Given the description of an element on the screen output the (x, y) to click on. 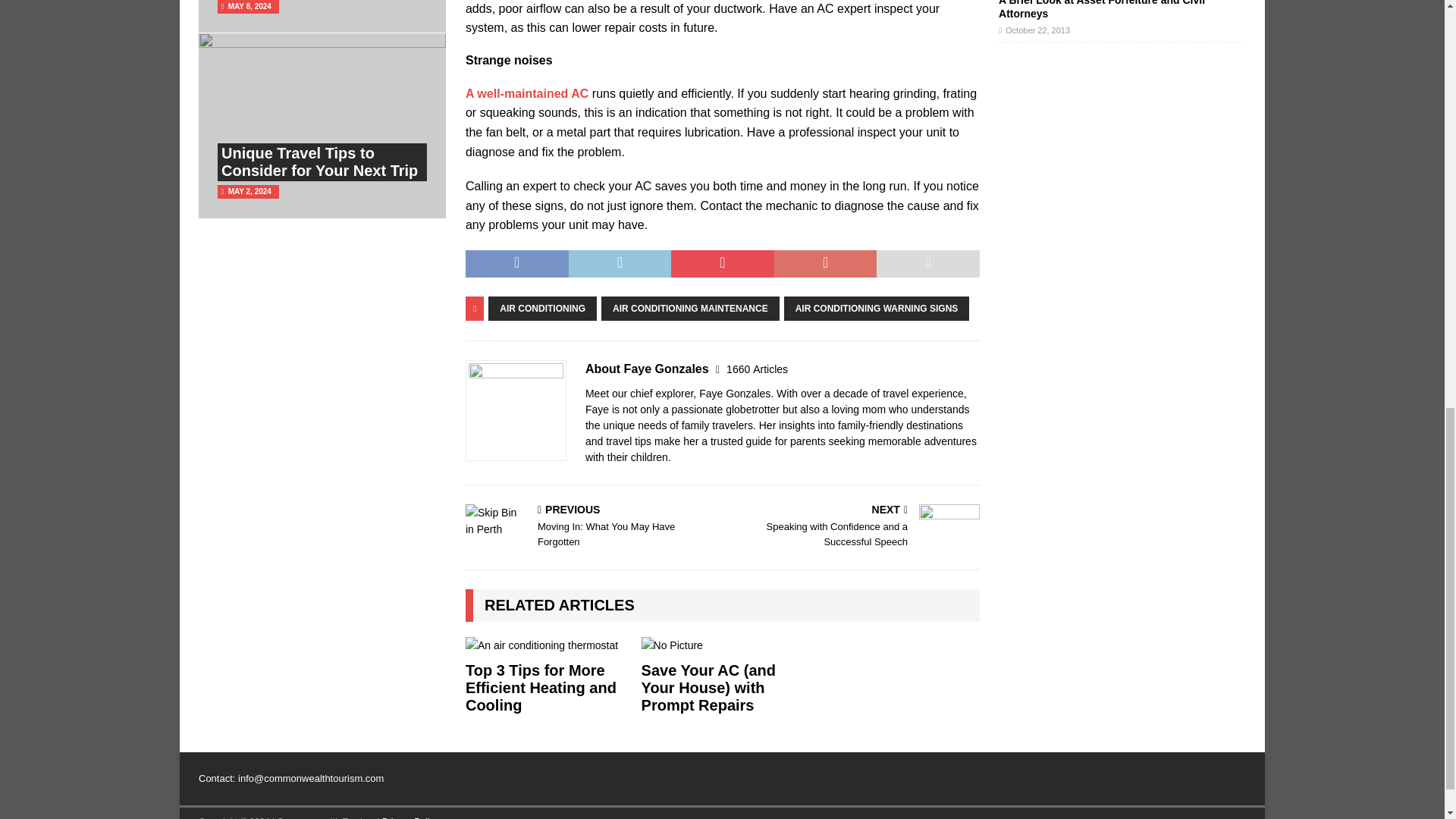
AIR CONDITIONING WARNING SIGNS (876, 308)
AIR CONDITIONING (541, 308)
AIR CONDITIONING MAINTENANCE (689, 308)
A well-maintained AC (528, 92)
